Given the description of an element on the screen output the (x, y) to click on. 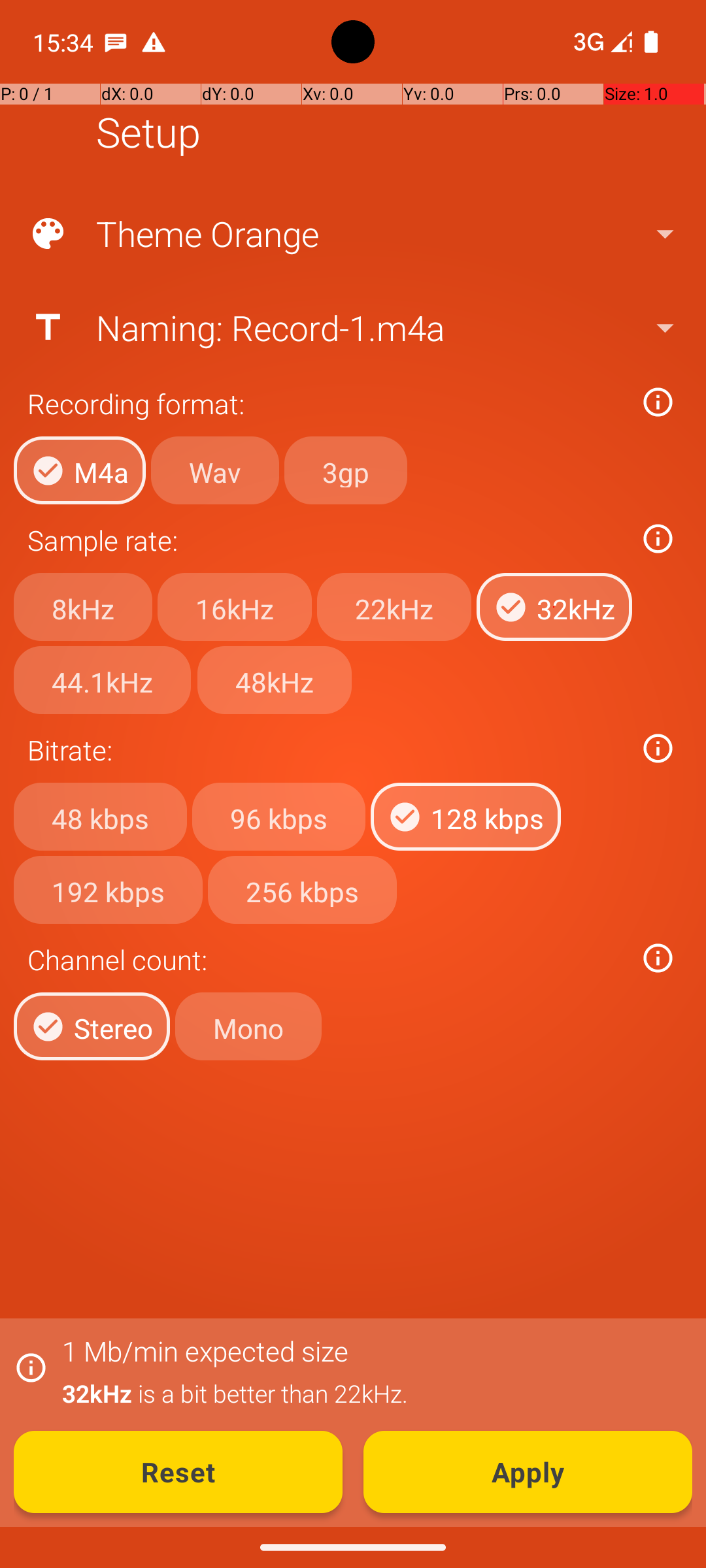
1 Mb/min expected size Element type: android.widget.TextView (205, 1350)
32kHz is a bit better than 22kHz. Element type: android.widget.TextView (370, 1392)
Reset Element type: android.widget.Button (177, 1471)
Apply Element type: android.widget.Button (527, 1471)
Setup Element type: android.widget.TextView (148, 131)
Recording format: Element type: android.widget.TextView (325, 403)
M4a Element type: android.widget.TextView (79, 470)
Wav Element type: android.widget.TextView (215, 470)
3gp Element type: android.widget.TextView (345, 470)
Sample rate: Element type: android.widget.TextView (325, 539)
44.1kHz Element type: android.widget.TextView (101, 680)
32kHz Element type: android.widget.TextView (554, 606)
16kHz Element type: android.widget.TextView (234, 606)
22kHz Element type: android.widget.TextView (394, 606)
48kHz Element type: android.widget.TextView (274, 680)
8kHz Element type: android.widget.TextView (82, 606)
Bitrate: Element type: android.widget.TextView (325, 749)
128 kbps Element type: android.widget.TextView (465, 816)
192 kbps Element type: android.widget.TextView (107, 889)
256 kbps Element type: android.widget.TextView (301, 889)
48 kbps Element type: android.widget.TextView (99, 816)
96 kbps Element type: android.widget.TextView (278, 816)
Channel count: Element type: android.widget.TextView (325, 959)
Stereo Element type: android.widget.TextView (91, 1026)
Mono Element type: android.widget.TextView (248, 1026)
Theme Orange Element type: android.widget.TextView (352, 233)
Naming: Record-1.m4a Element type: android.widget.TextView (352, 327)
15:34 Element type: android.widget.TextView (64, 41)
SMS Messenger notification:  Element type: android.widget.ImageView (115, 41)
Android System notification: Data warning Element type: android.widget.ImageView (153, 41)
Phone two bars. Element type: android.widget.FrameLayout (600, 41)
Battery 100 percent. Element type: android.widget.LinearLayout (650, 41)
No internet Element type: android.widget.ImageView (587, 41)
